Given the description of an element on the screen output the (x, y) to click on. 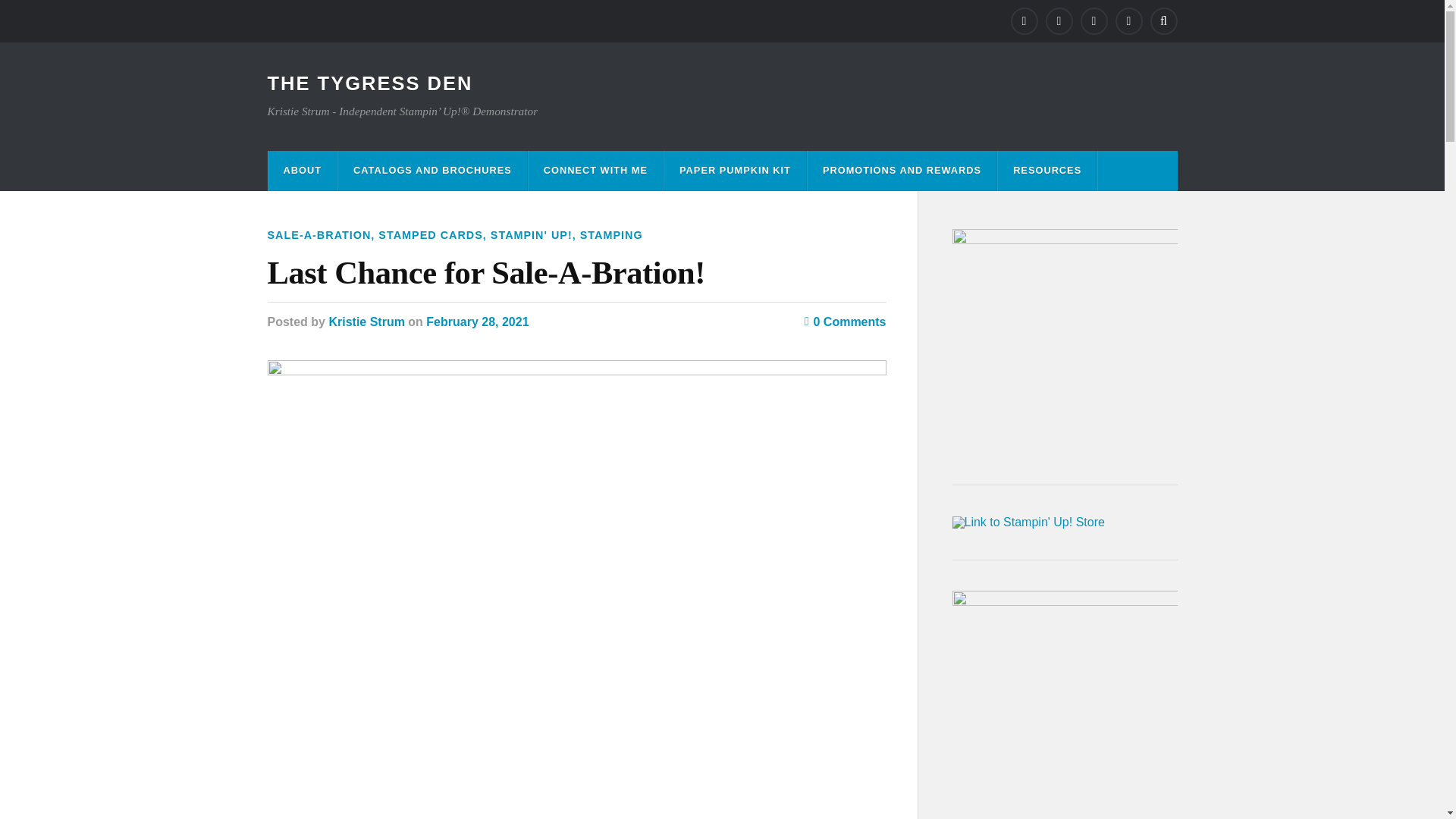
CATALOGS AND BROCHURES (432, 170)
RESOURCES (1046, 170)
THE TYGRESS DEN (368, 83)
ABOUT (302, 170)
PROMOTIONS AND REWARDS (901, 170)
Kristie Strum (366, 321)
STAMPIN' UP! (531, 234)
0 Comments (845, 321)
PAPER PUMPKIN KIT (734, 170)
STAMPED CARDS (429, 234)
